Given the description of an element on the screen output the (x, y) to click on. 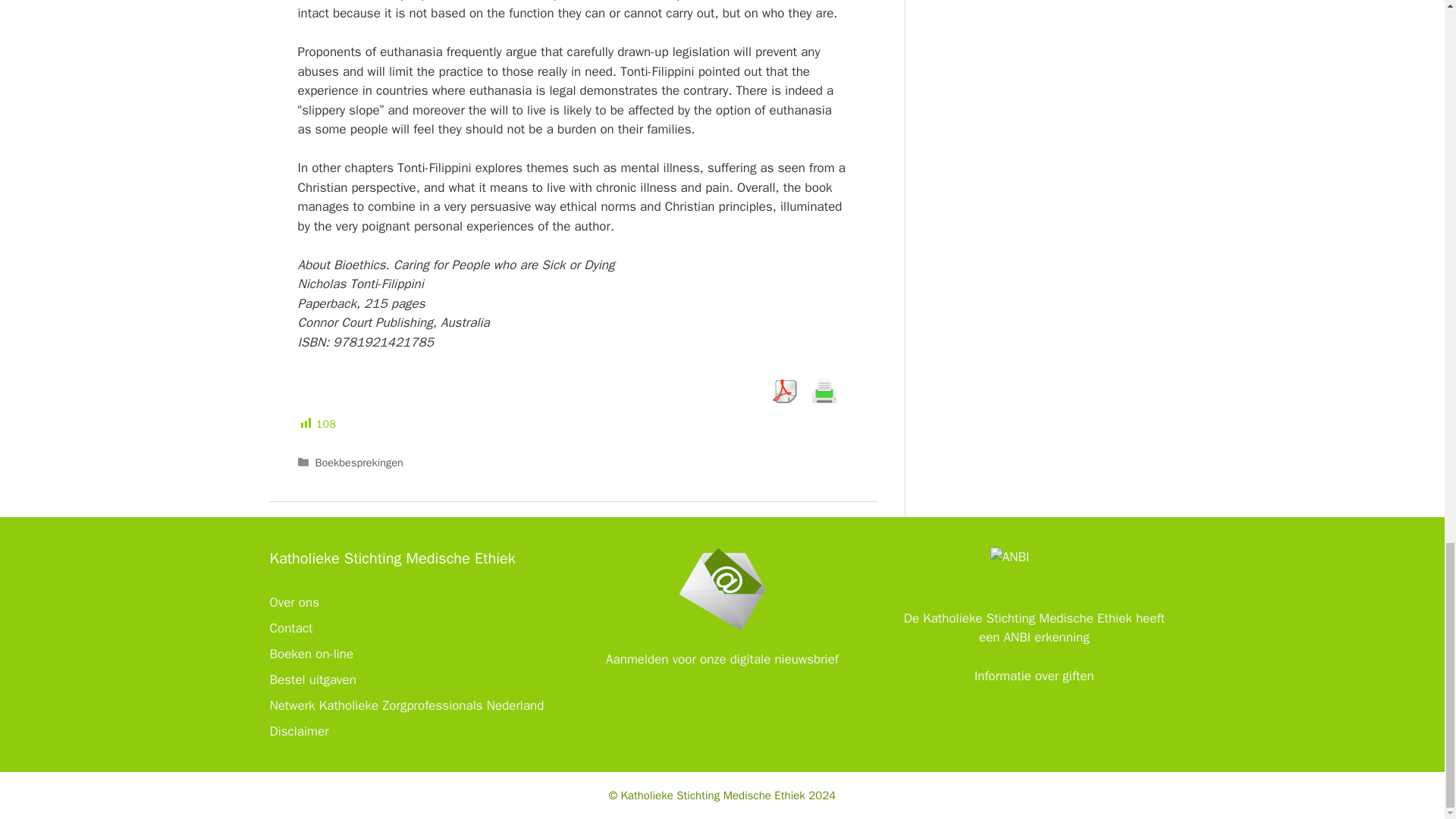
View PDF (784, 391)
Print Content (824, 391)
